Given the description of an element on the screen output the (x, y) to click on. 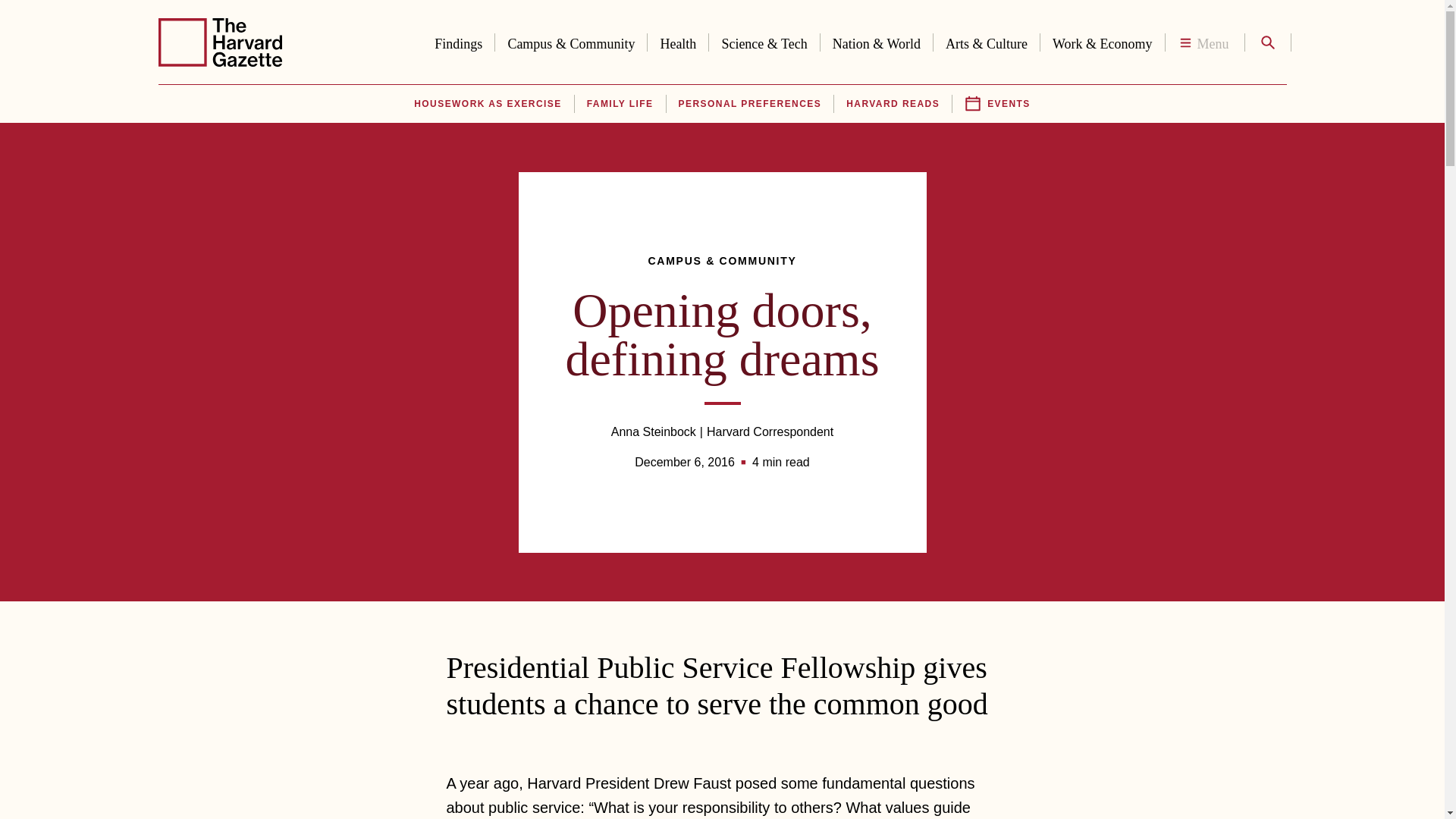
HOUSEWORK AS EXERCISE (487, 103)
Findings (457, 41)
Menu (1204, 42)
FAMILY LIFE (620, 103)
Health (677, 41)
